Given the description of an element on the screen output the (x, y) to click on. 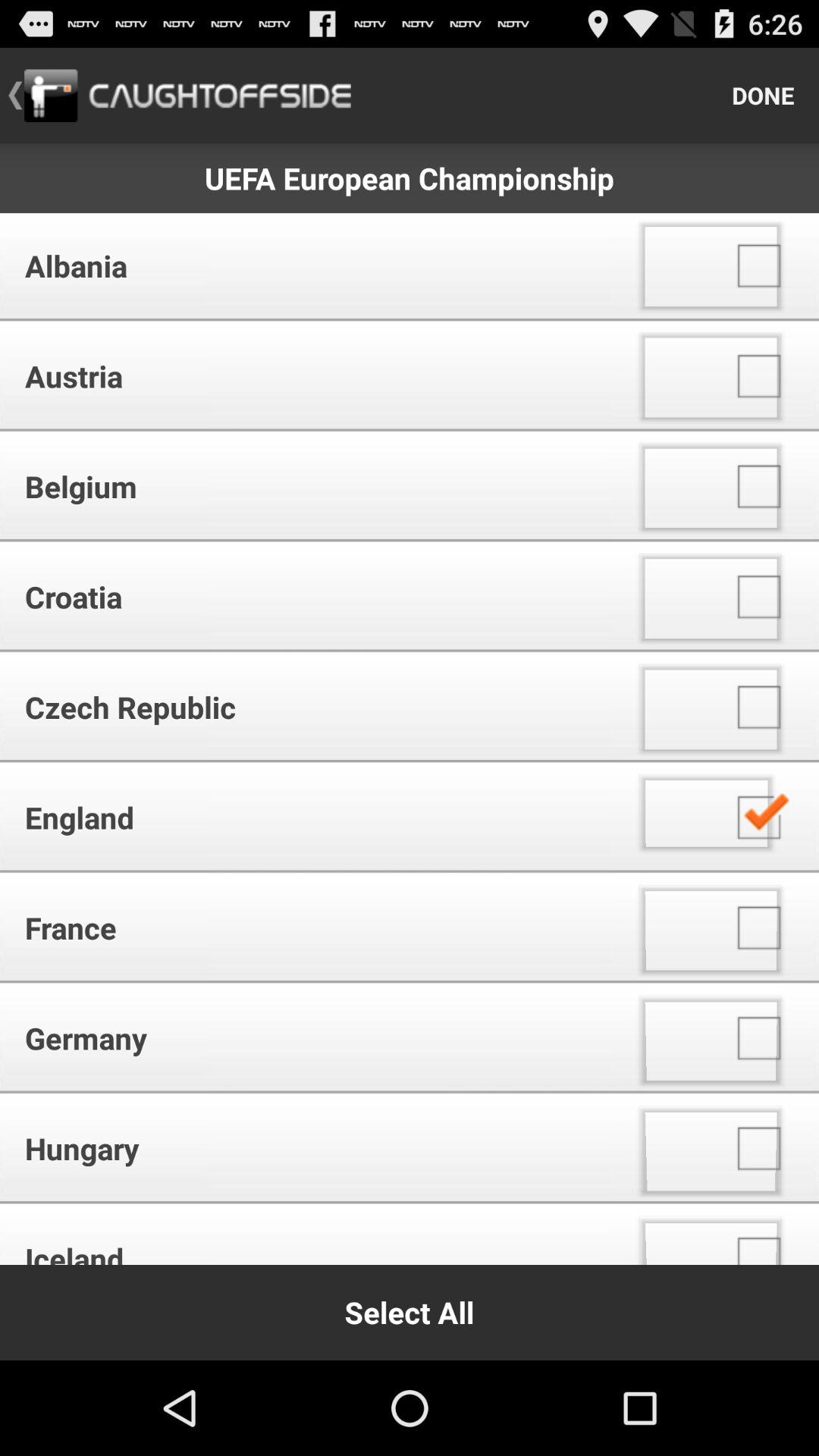
swipe until the select all (409, 1312)
